Given the description of an element on the screen output the (x, y) to click on. 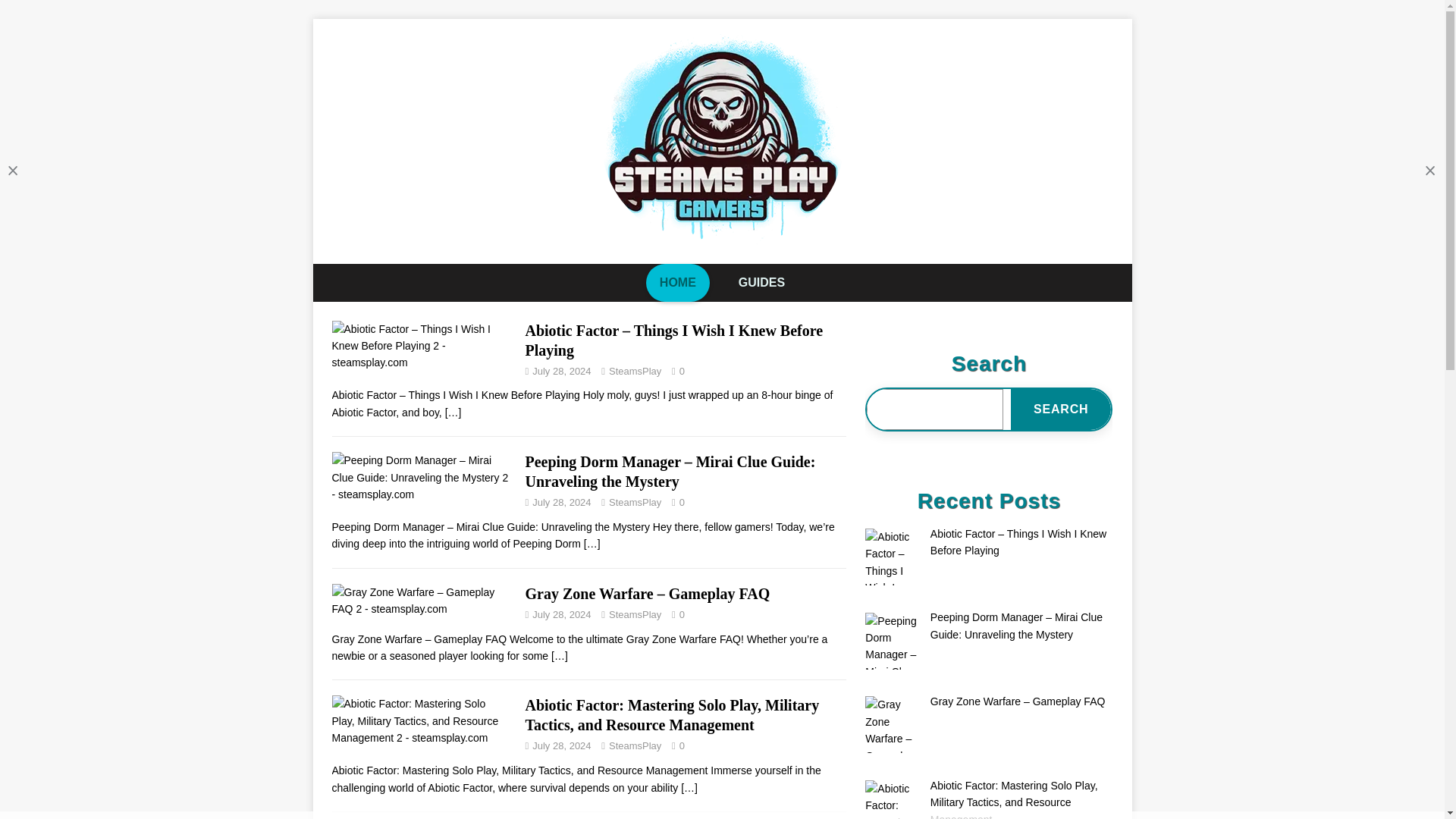
HOME (678, 282)
SteamsPlay (634, 614)
SteamsPlay (634, 370)
GUIDES (761, 282)
SteamsPlay (634, 501)
SteamsPlay (634, 745)
